Given the description of an element on the screen output the (x, y) to click on. 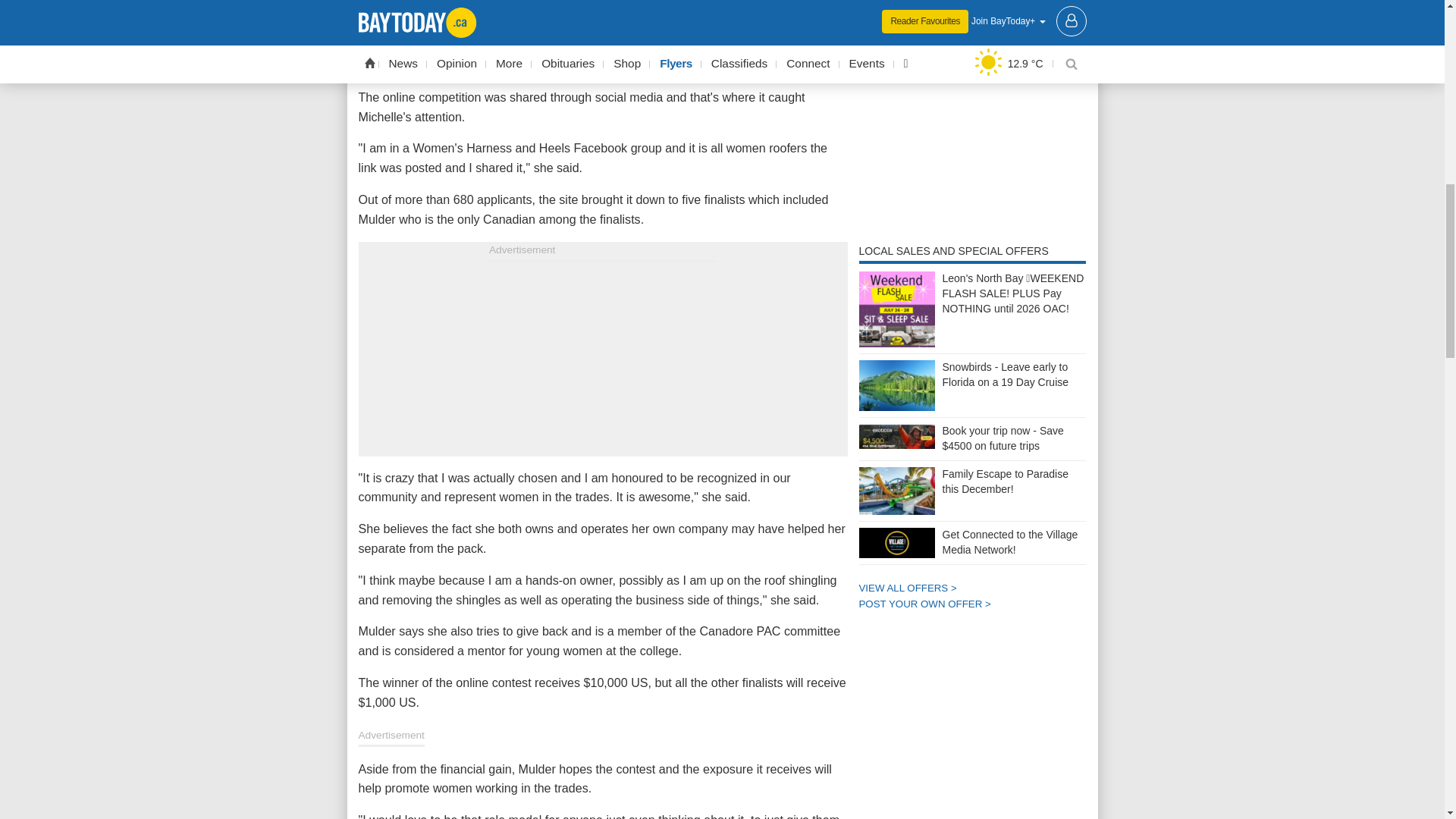
3rd party ad content (972, 115)
3rd party ad content (602, 357)
